Given the description of an element on the screen output the (x, y) to click on. 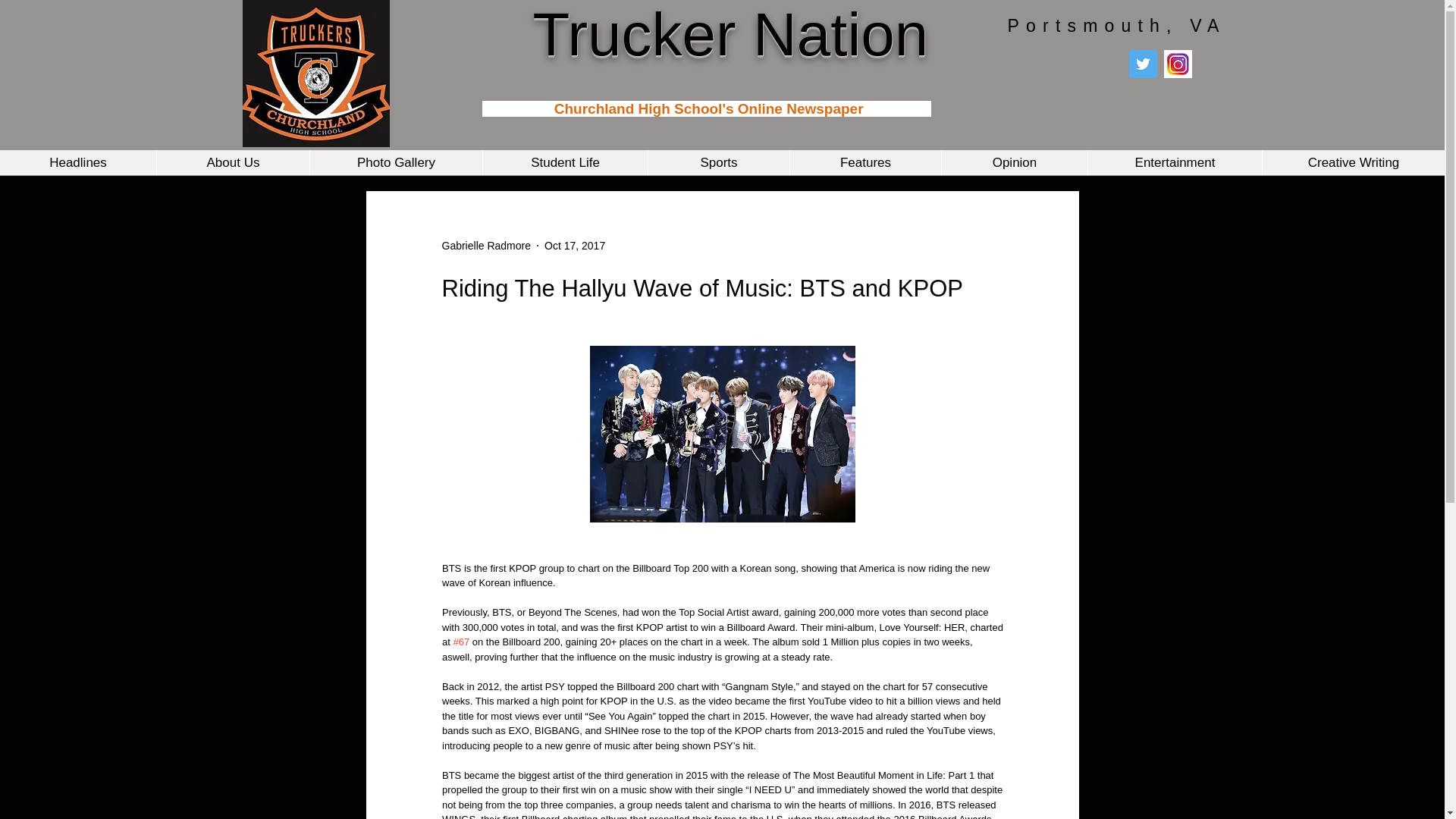
Student Life (564, 162)
Photo Gallery (394, 162)
About Us (231, 162)
Trucker Nation (730, 33)
Headlines (77, 162)
Opinion (1013, 162)
Entertainment (1174, 162)
Sports (718, 162)
Features (864, 162)
Oct 17, 2017 (574, 245)
